Given the description of an element on the screen output the (x, y) to click on. 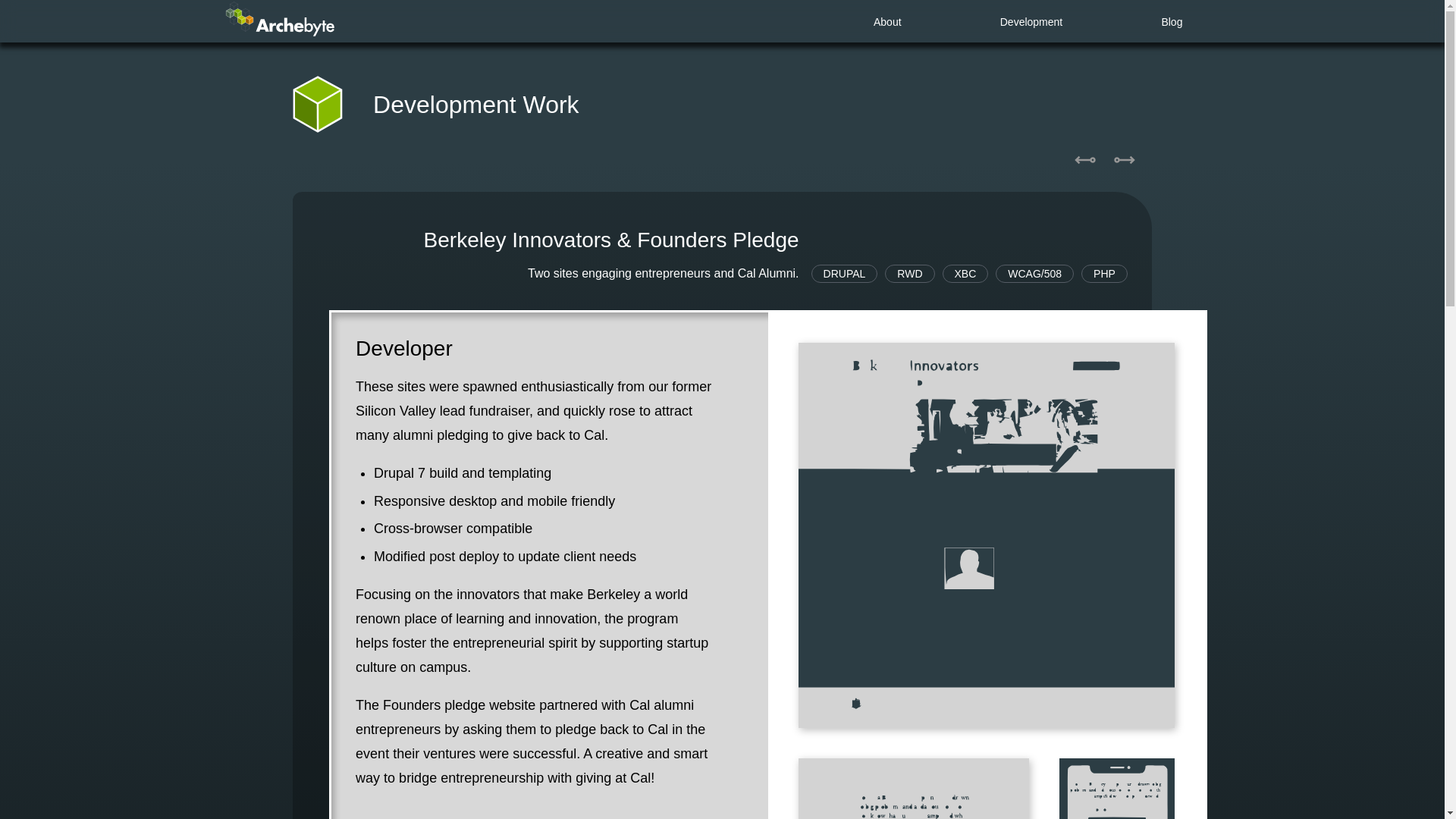
About (887, 22)
Next Project (1124, 159)
Blog (1171, 22)
Previous Project (1085, 159)
Development (1031, 22)
